Given the description of an element on the screen output the (x, y) to click on. 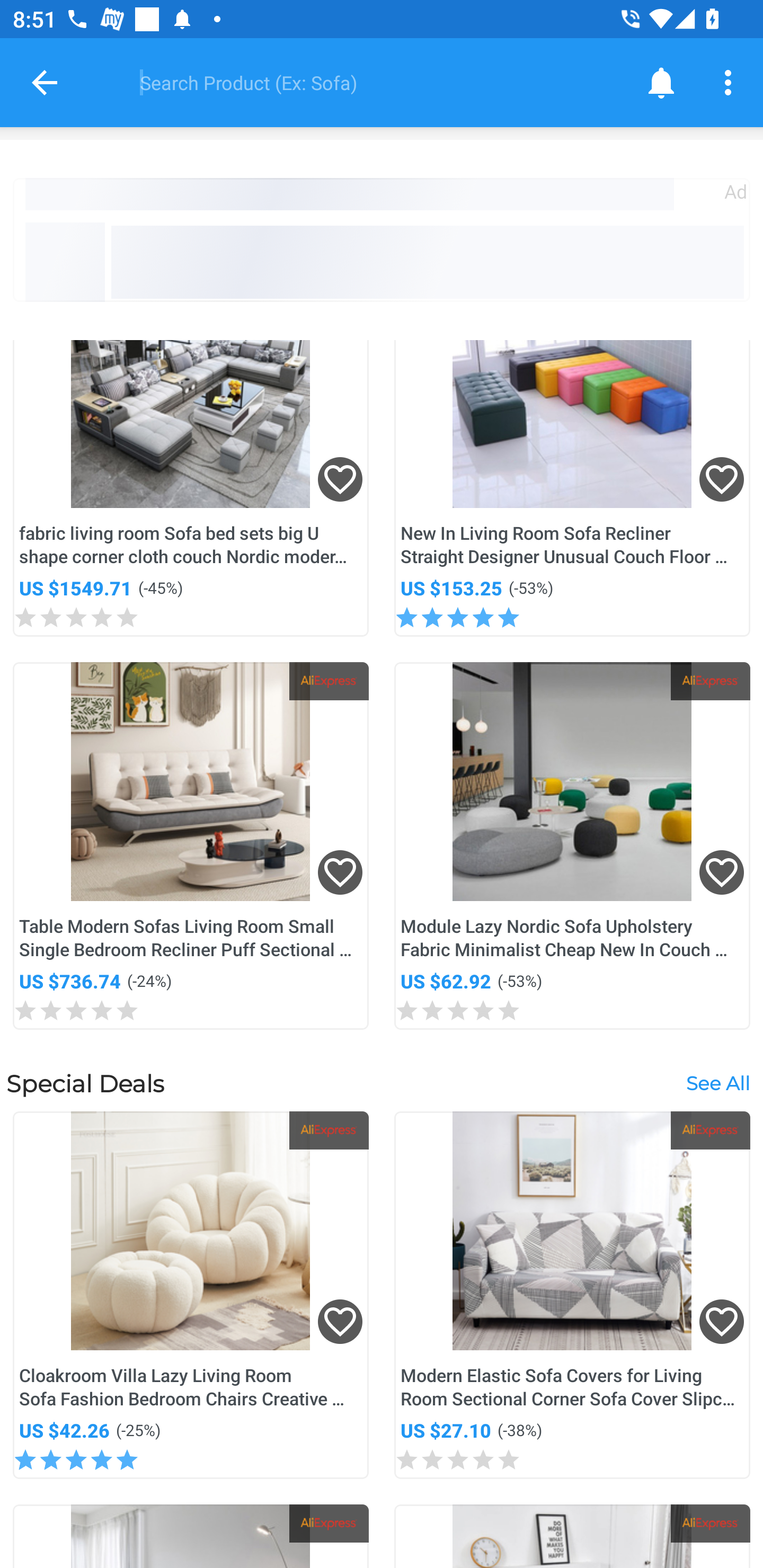
Collapse (44, 82)
More options (731, 81)
Search Product (Ex: Sofa) (368, 82)
See All (717, 1083)
